Given the description of an element on the screen output the (x, y) to click on. 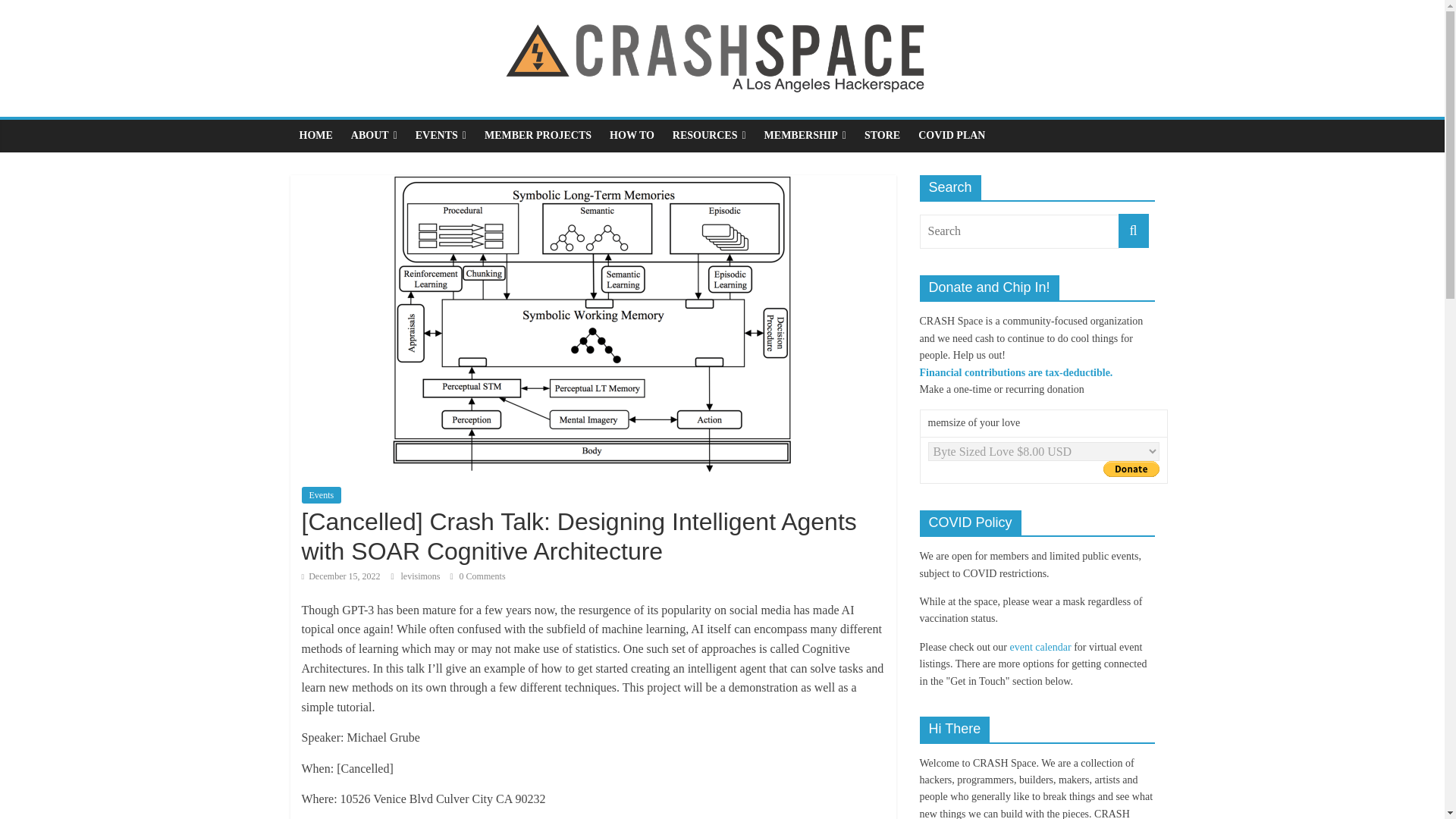
HOW TO (631, 135)
MEMBERSHIP (805, 135)
Events (321, 494)
COVID PLAN (951, 135)
EVENTS (441, 135)
MEMBER PROJECTS (537, 135)
HOME (314, 135)
STORE (882, 135)
levisimons (421, 575)
RESOURCES (709, 135)
